Given the description of an element on the screen output the (x, y) to click on. 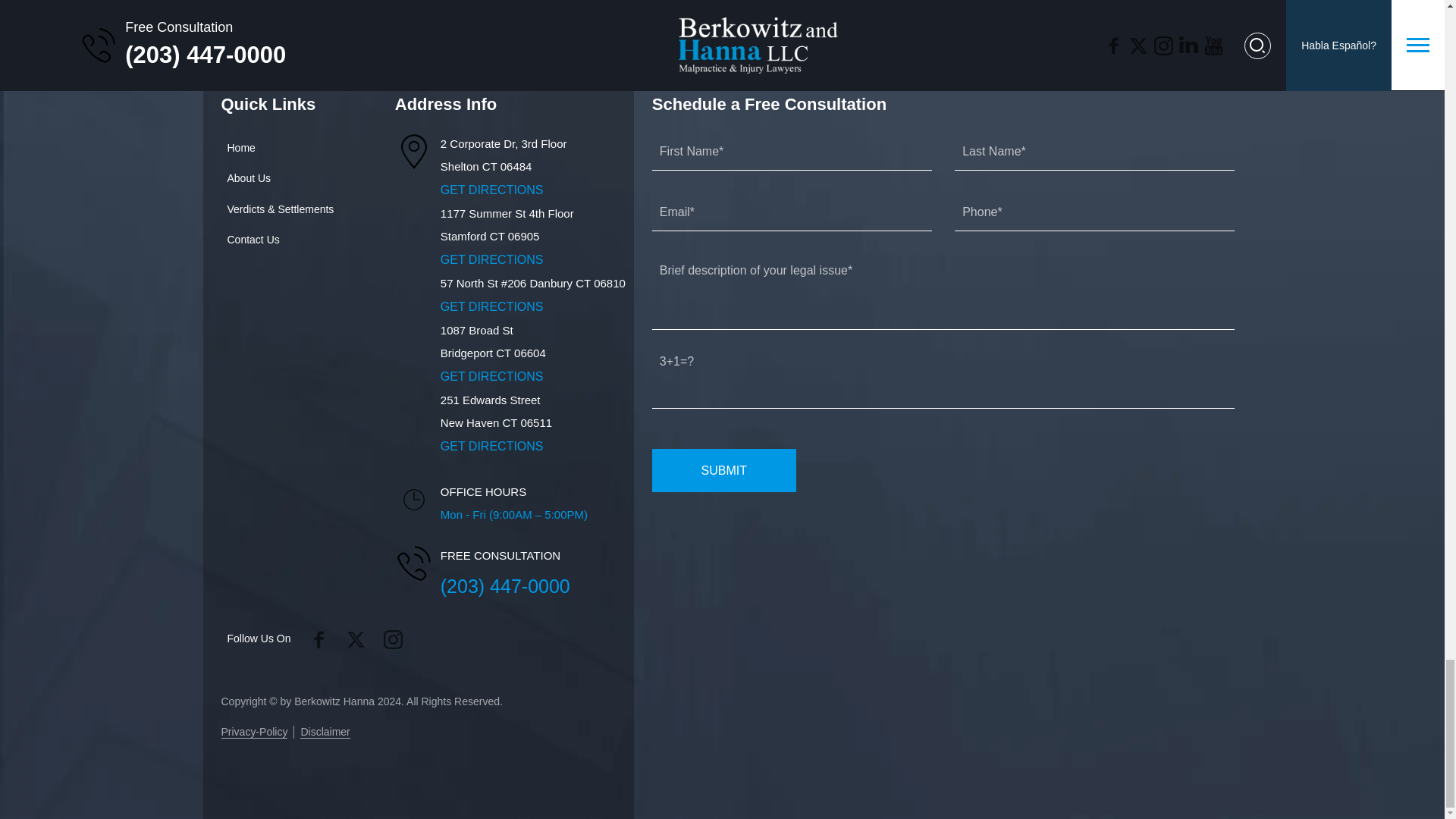
Submit (724, 470)
